Given the description of an element on the screen output the (x, y) to click on. 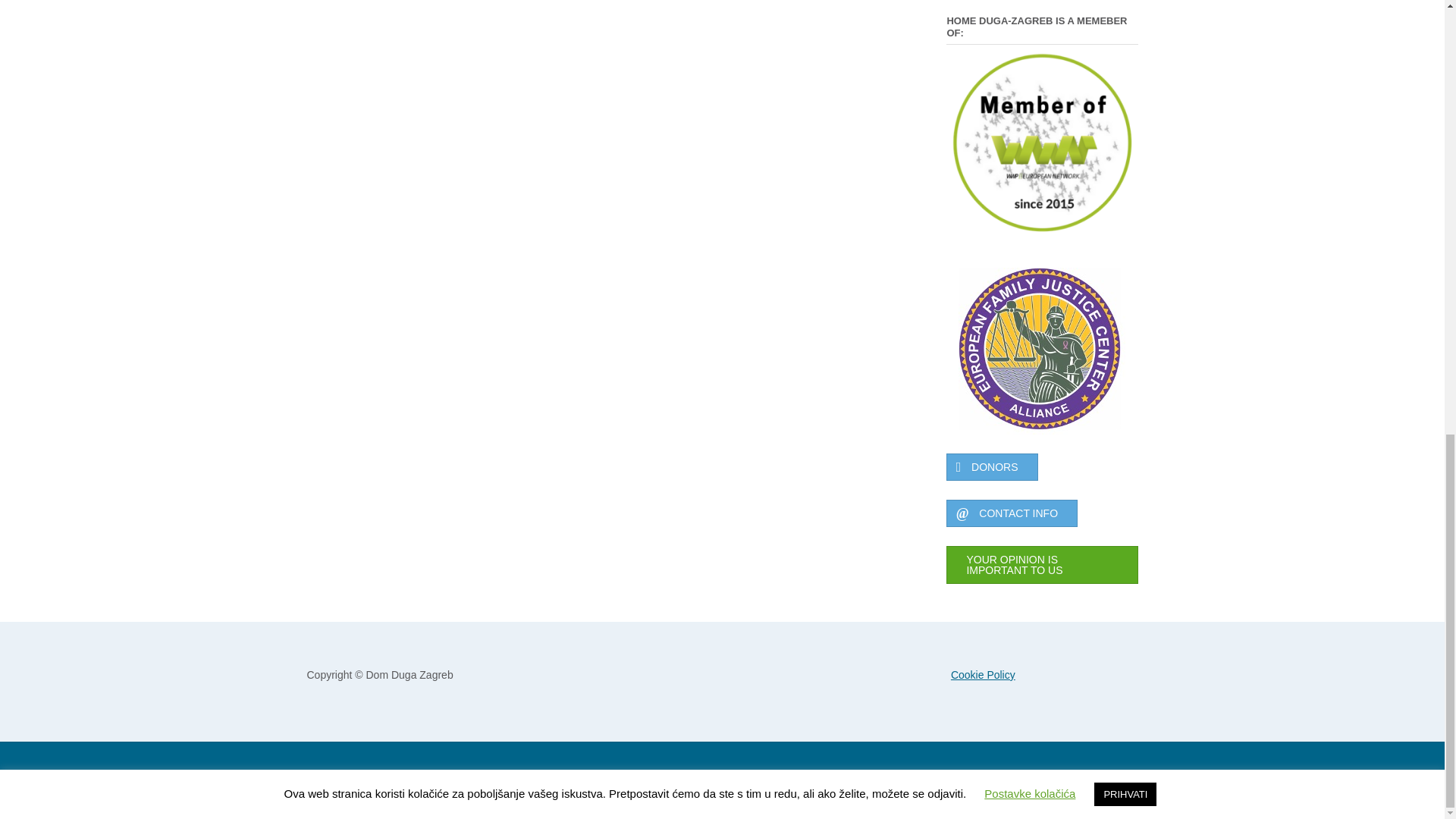
Cookie Policy (982, 674)
Out the Box (379, 780)
DONORS (991, 466)
YOUR OPINION IS IMPORTANT TO US (1041, 564)
CONTACT INFO (1011, 513)
